Given the description of an element on the screen output the (x, y) to click on. 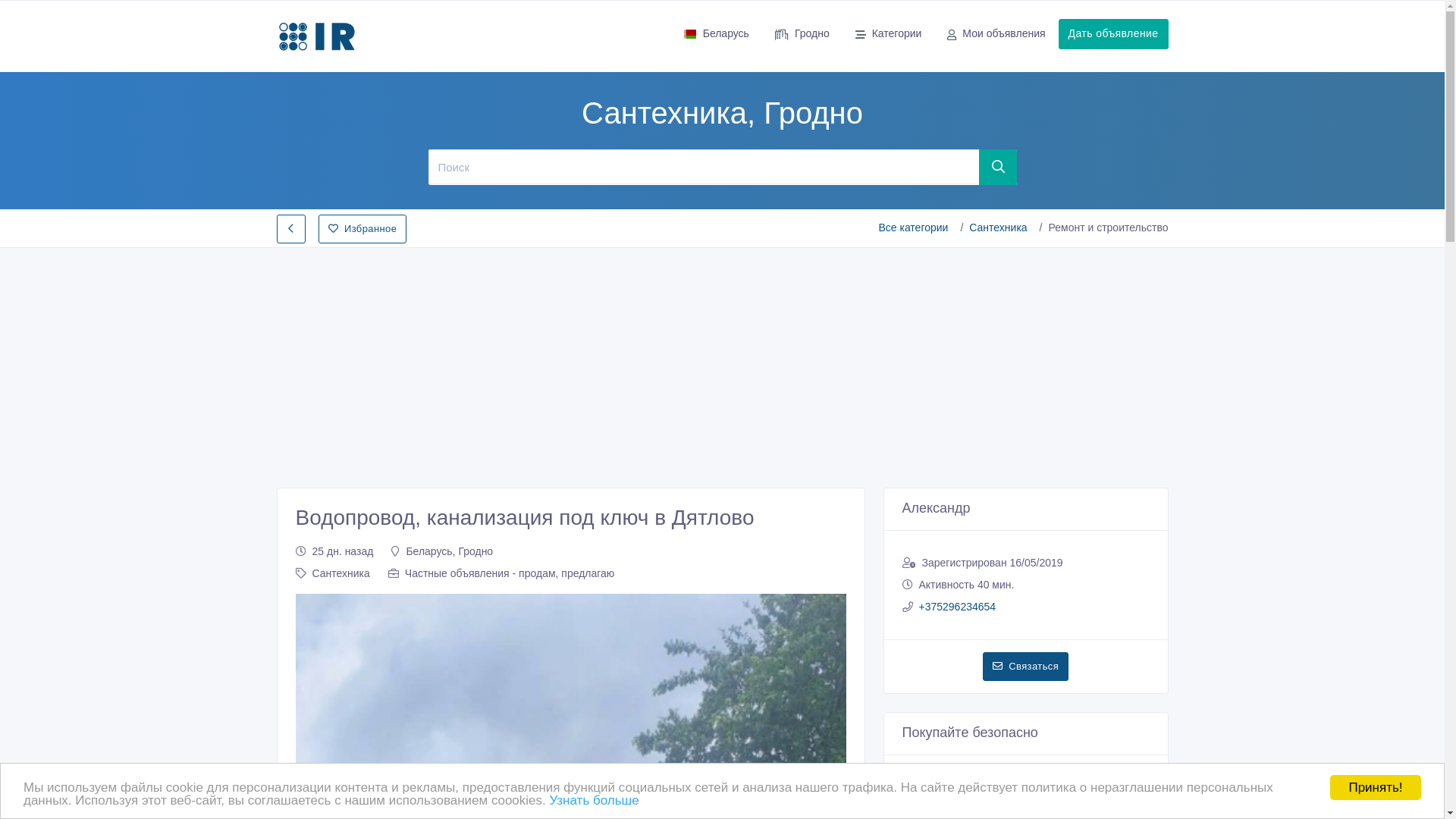
+375296234654 Element type: text (957, 606)
Advertisement Element type: hover (721, 363)
